Given the description of an element on the screen output the (x, y) to click on. 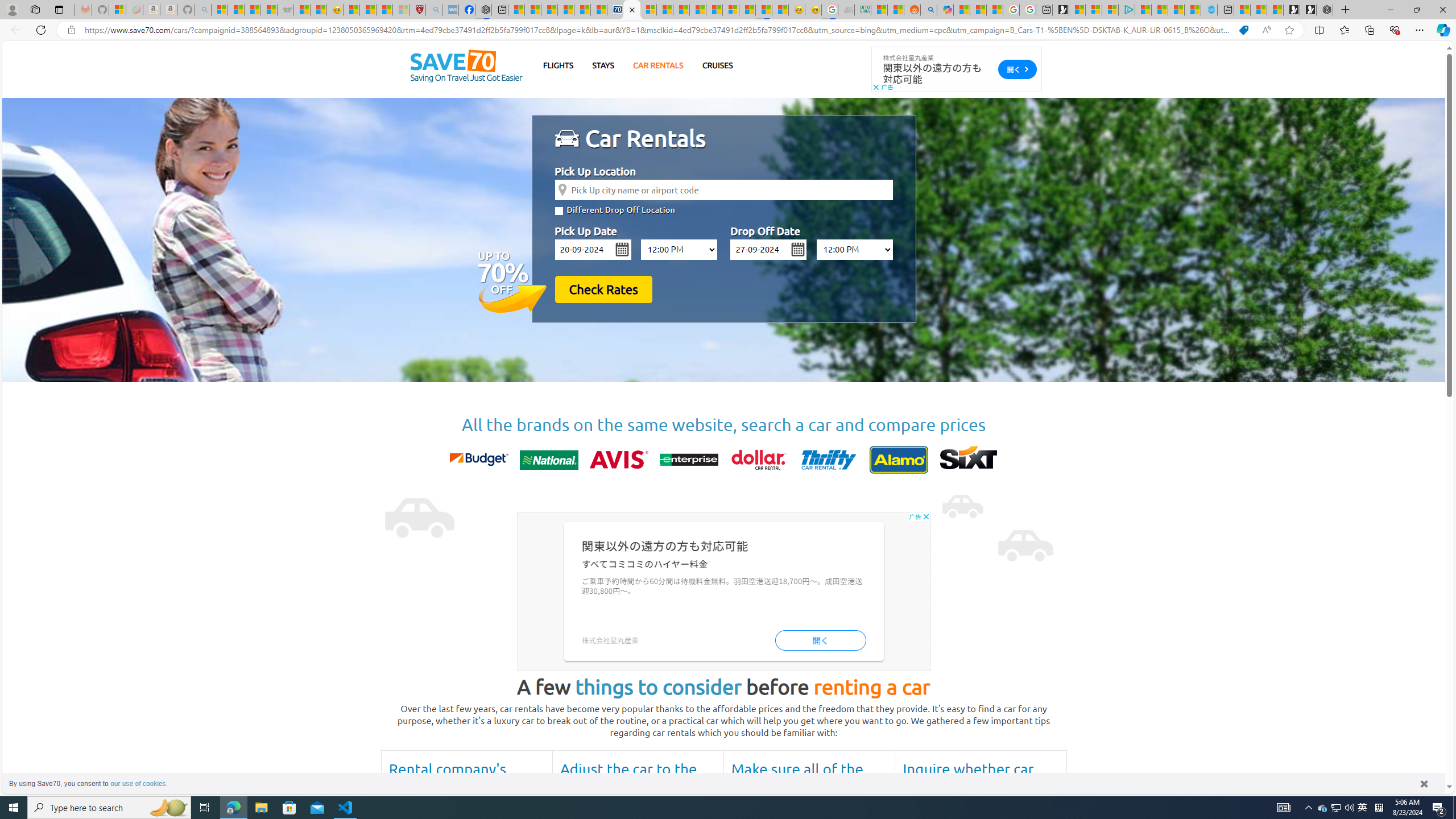
STAYS (603, 65)
CAR RENTALS (657, 65)
thrifty (828, 459)
